Given the description of an element on the screen output the (x, y) to click on. 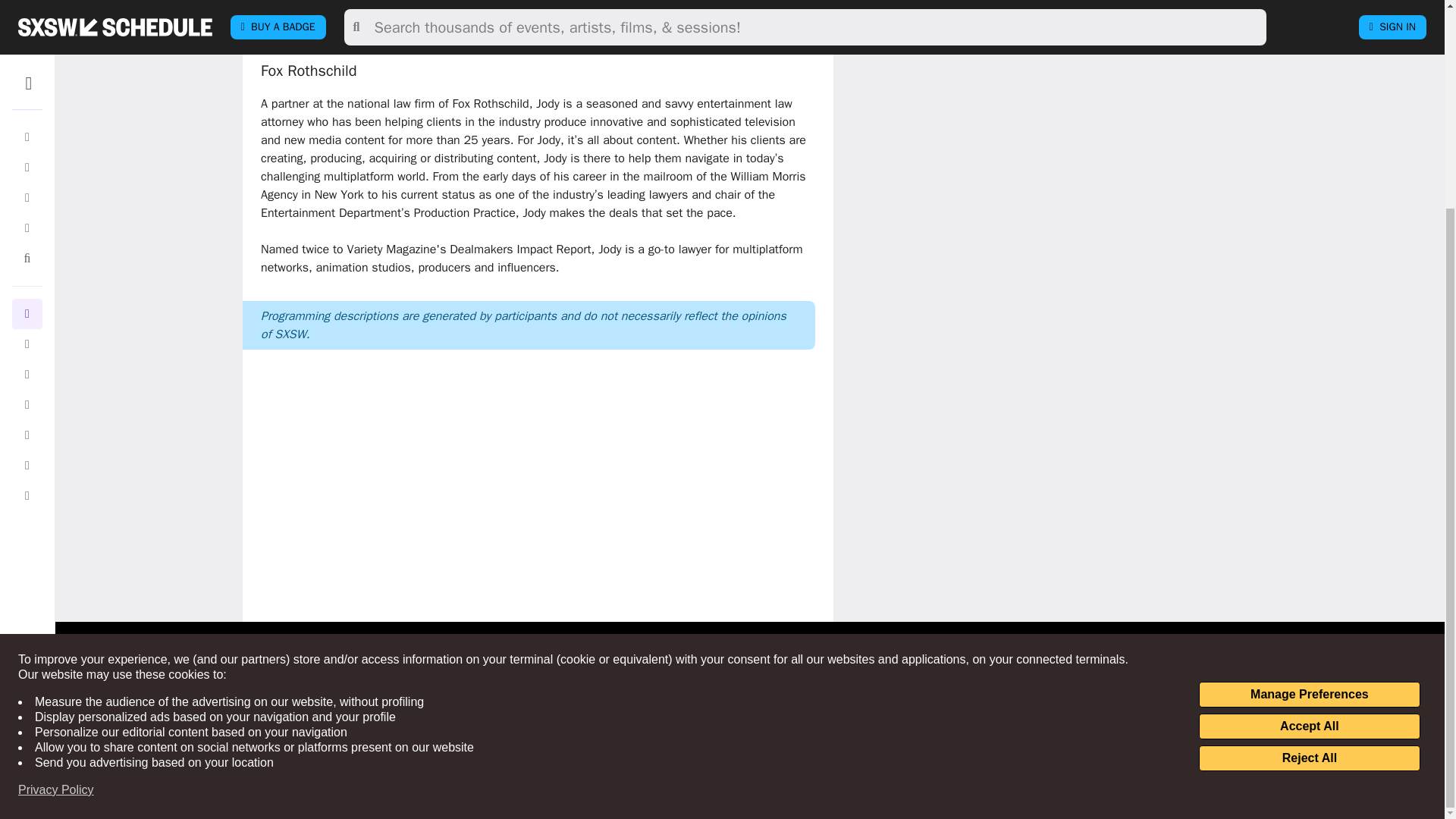
Privacy Policy (55, 519)
Reject All (1309, 488)
Manage Preferences (1309, 424)
Accept All (1309, 456)
